Given the description of an element on the screen output the (x, y) to click on. 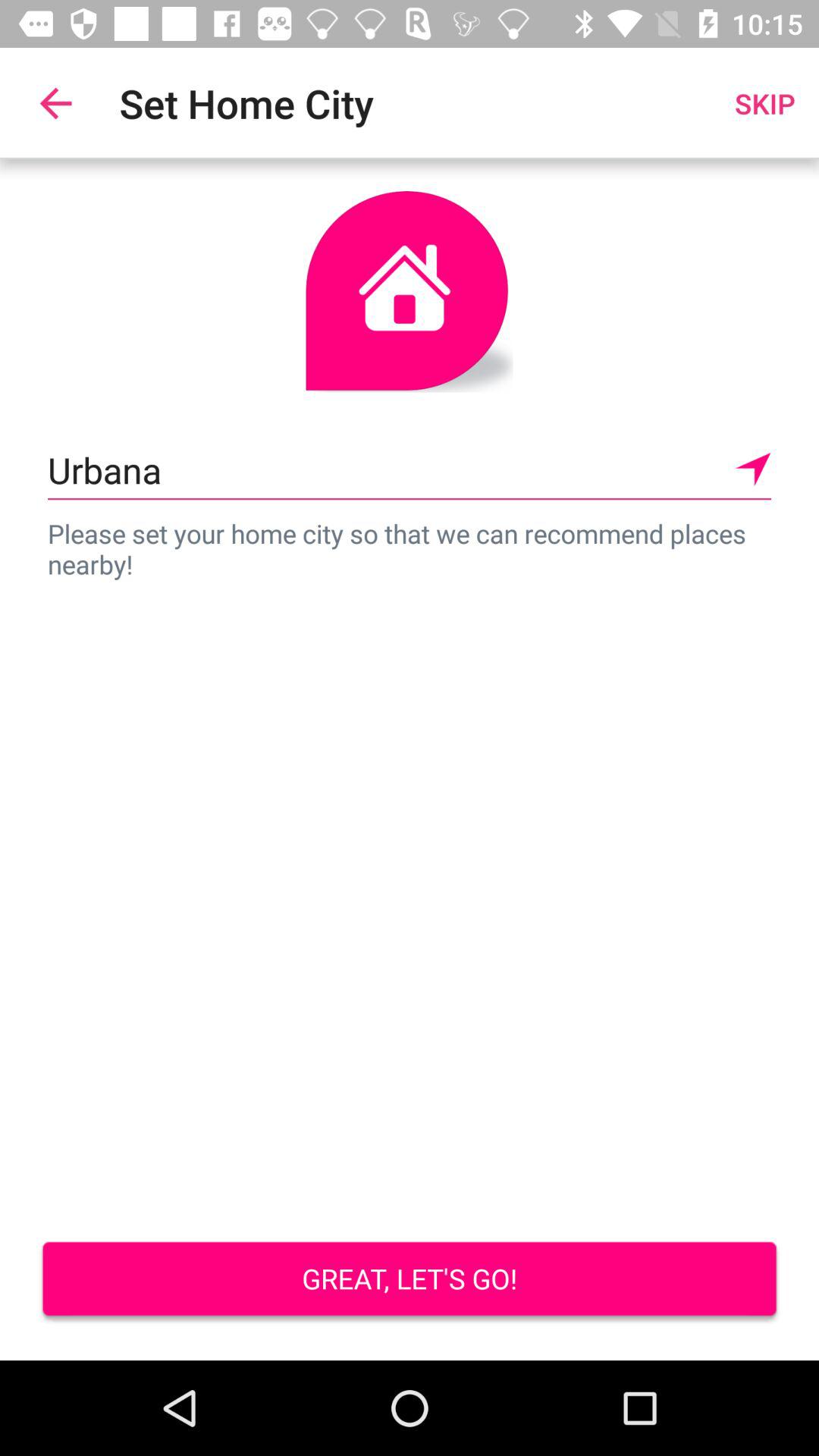
click the item next to set home city icon (764, 103)
